Given the description of an element on the screen output the (x, y) to click on. 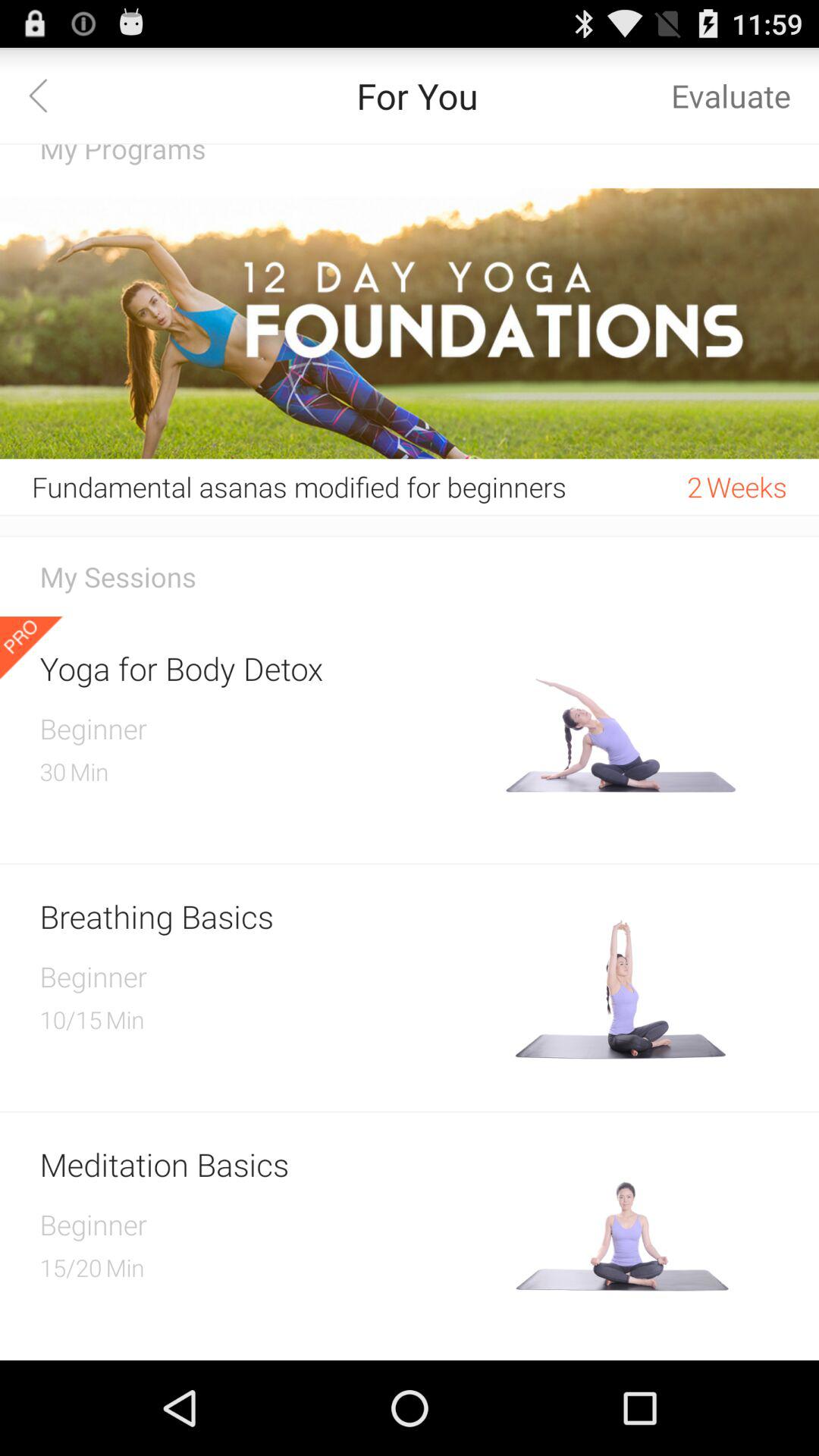
turn on icon next to for you item (47, 95)
